Given the description of an element on the screen output the (x, y) to click on. 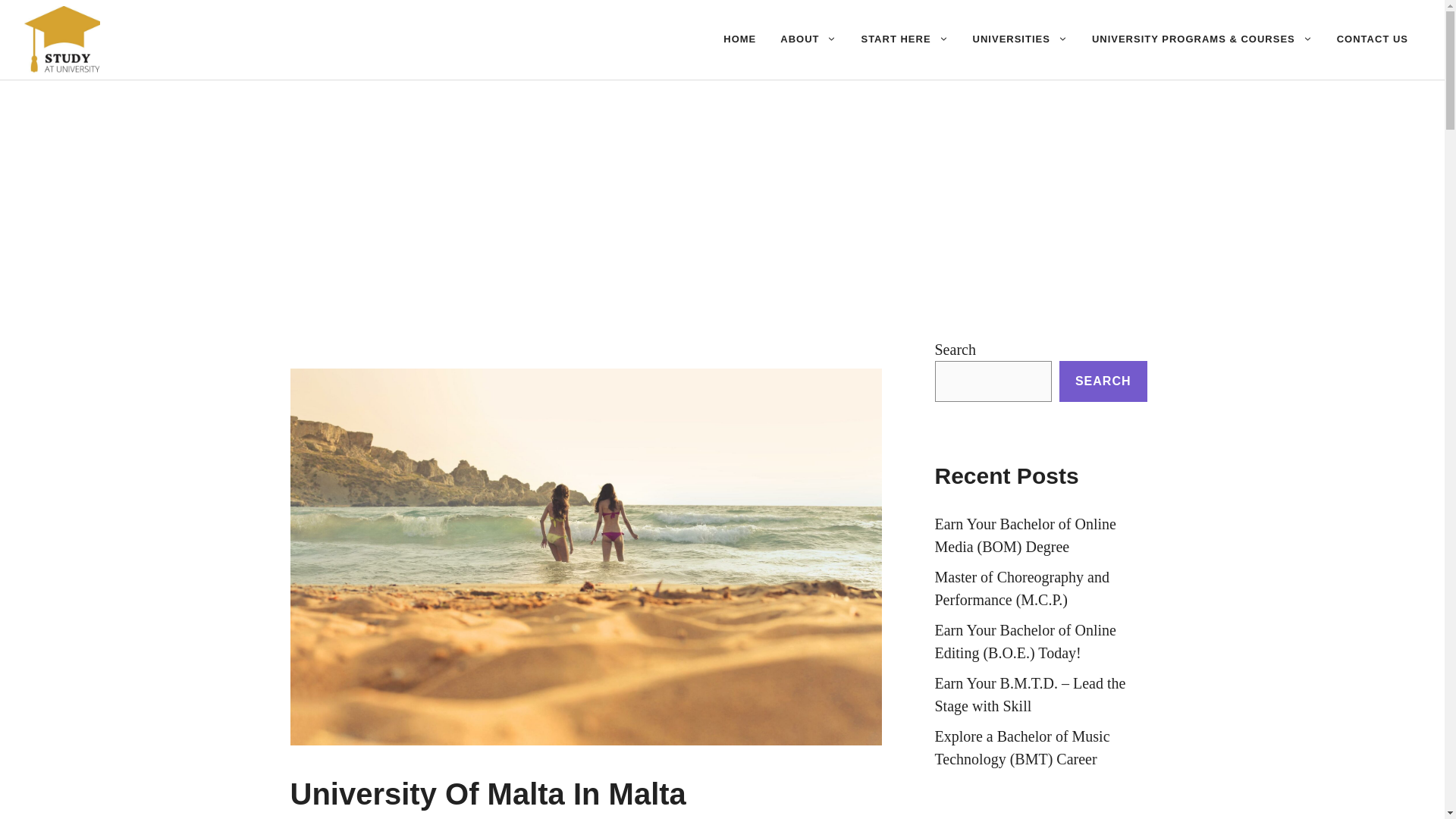
UNIVERSITIES (1020, 39)
ABOUT (808, 39)
CONTACT US (1372, 39)
START HERE (903, 39)
HOME (739, 39)
